Given the description of an element on the screen output the (x, y) to click on. 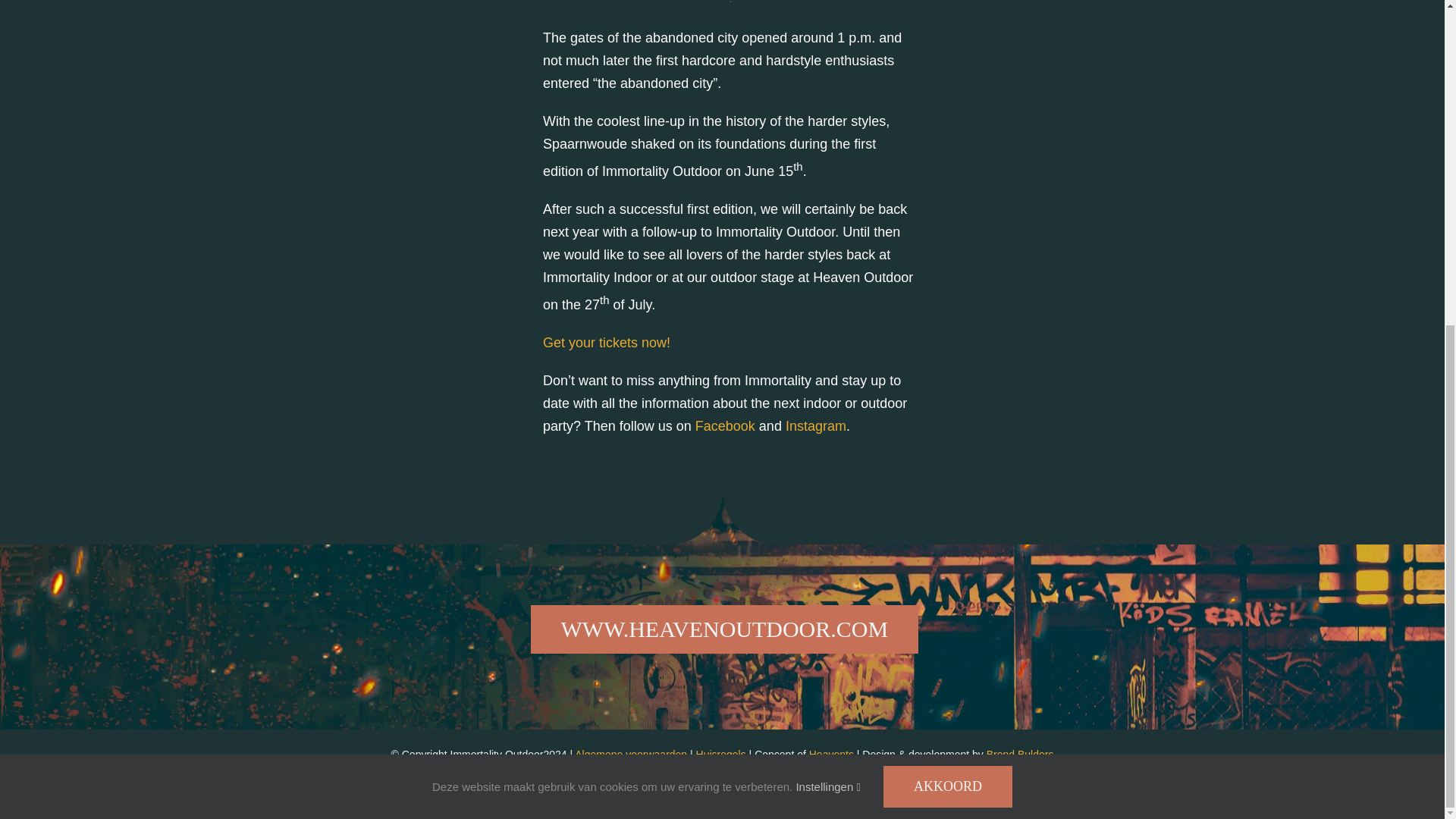
Instagram (815, 426)
Heavents (831, 754)
Instagram (731, 793)
Facebook (712, 793)
Facebook (725, 426)
Huisregels (720, 754)
Instellingen (827, 253)
Brend Bulders (1020, 754)
WWW.HEAVENOUTDOOR.COM (724, 629)
Get your tickets now! (606, 342)
Algemene voorwaarden (631, 754)
AKKOORD (947, 254)
